Given the description of an element on the screen output the (x, y) to click on. 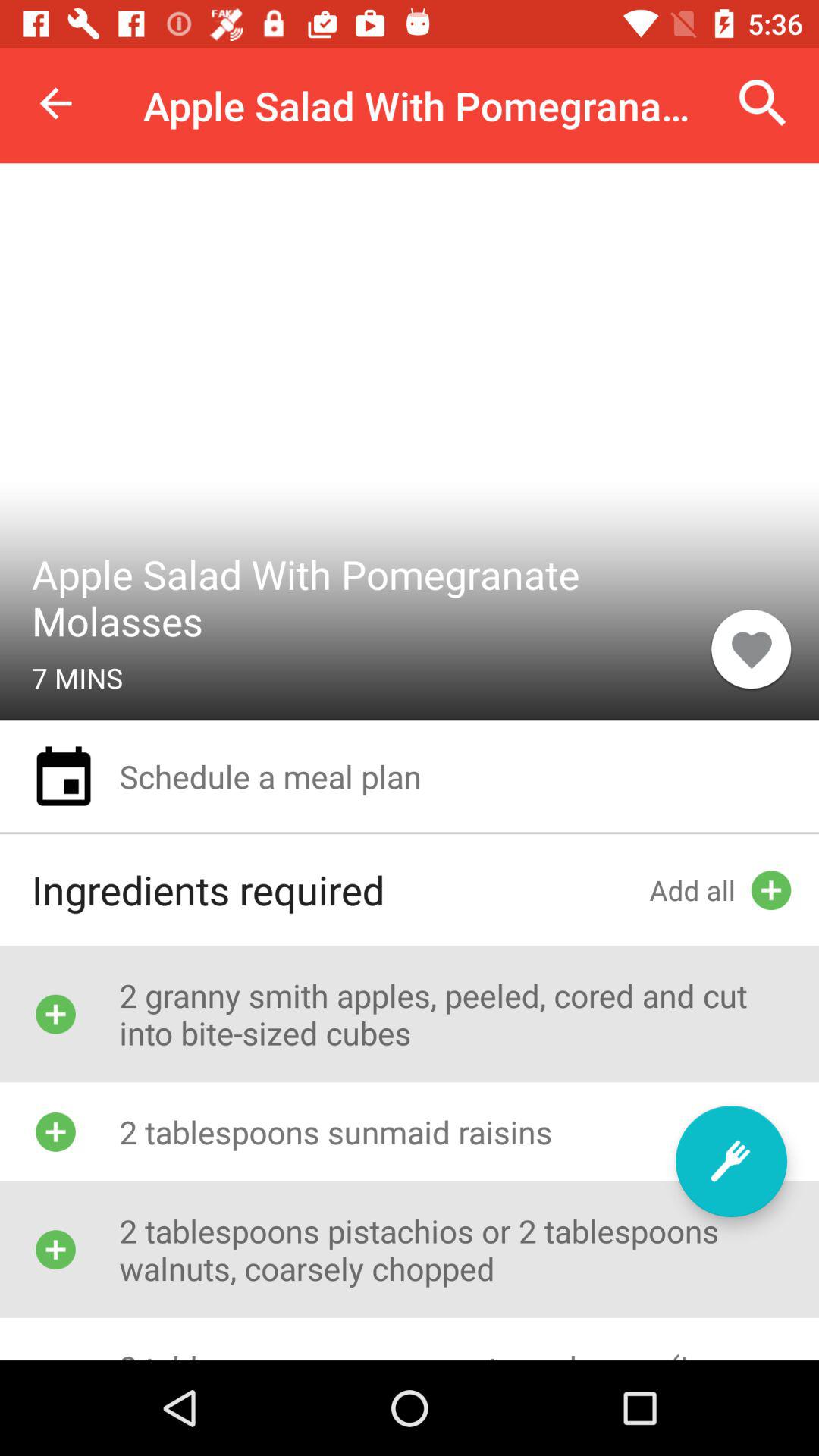
see nutrition information (731, 1161)
